Given the description of an element on the screen output the (x, y) to click on. 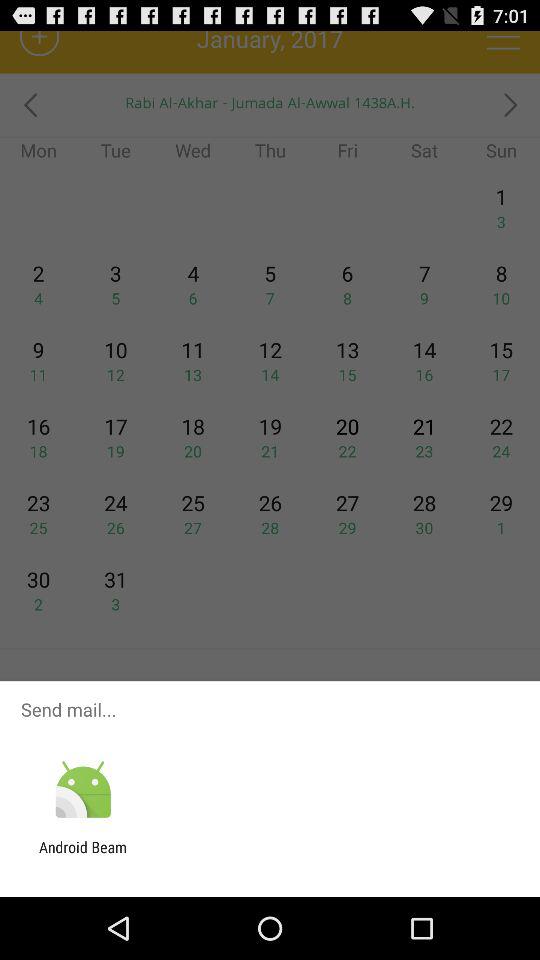
launch the android beam item (83, 856)
